Given the description of an element on the screen output the (x, y) to click on. 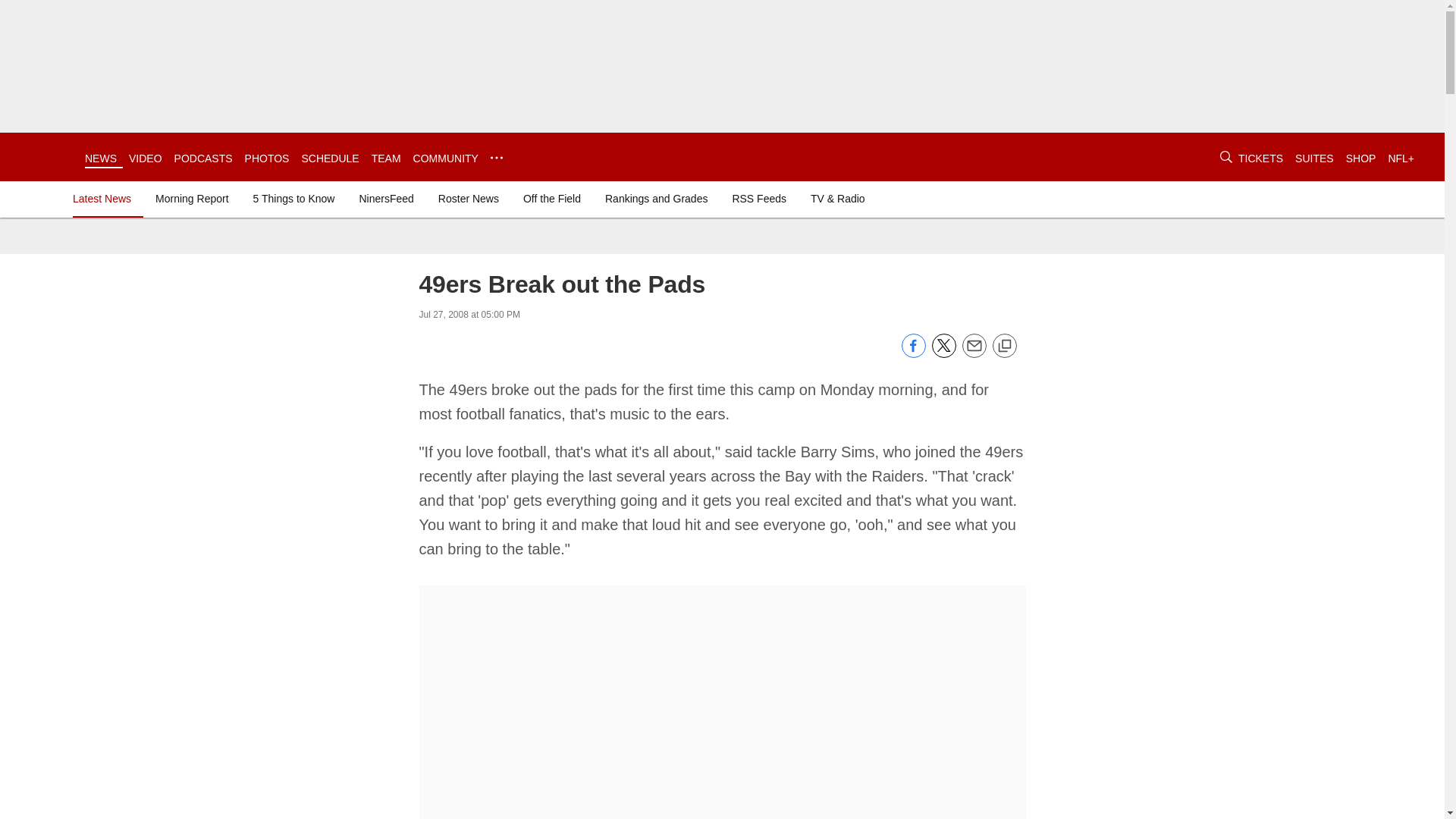
NEWS (100, 158)
SUITES (1314, 158)
5 Things to Know (293, 198)
TEAM (386, 158)
PHOTOS (266, 158)
PODCASTS (203, 158)
PODCASTS (203, 158)
RSS Feeds (758, 198)
SCHEDULE (329, 158)
... (496, 157)
